Given the description of an element on the screen output the (x, y) to click on. 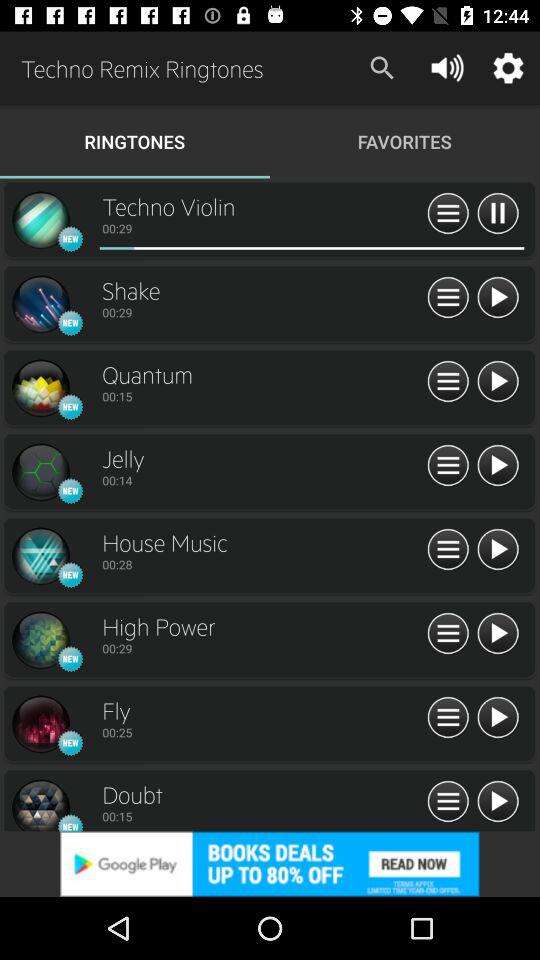
play the music (497, 549)
